Given the description of an element on the screen output the (x, y) to click on. 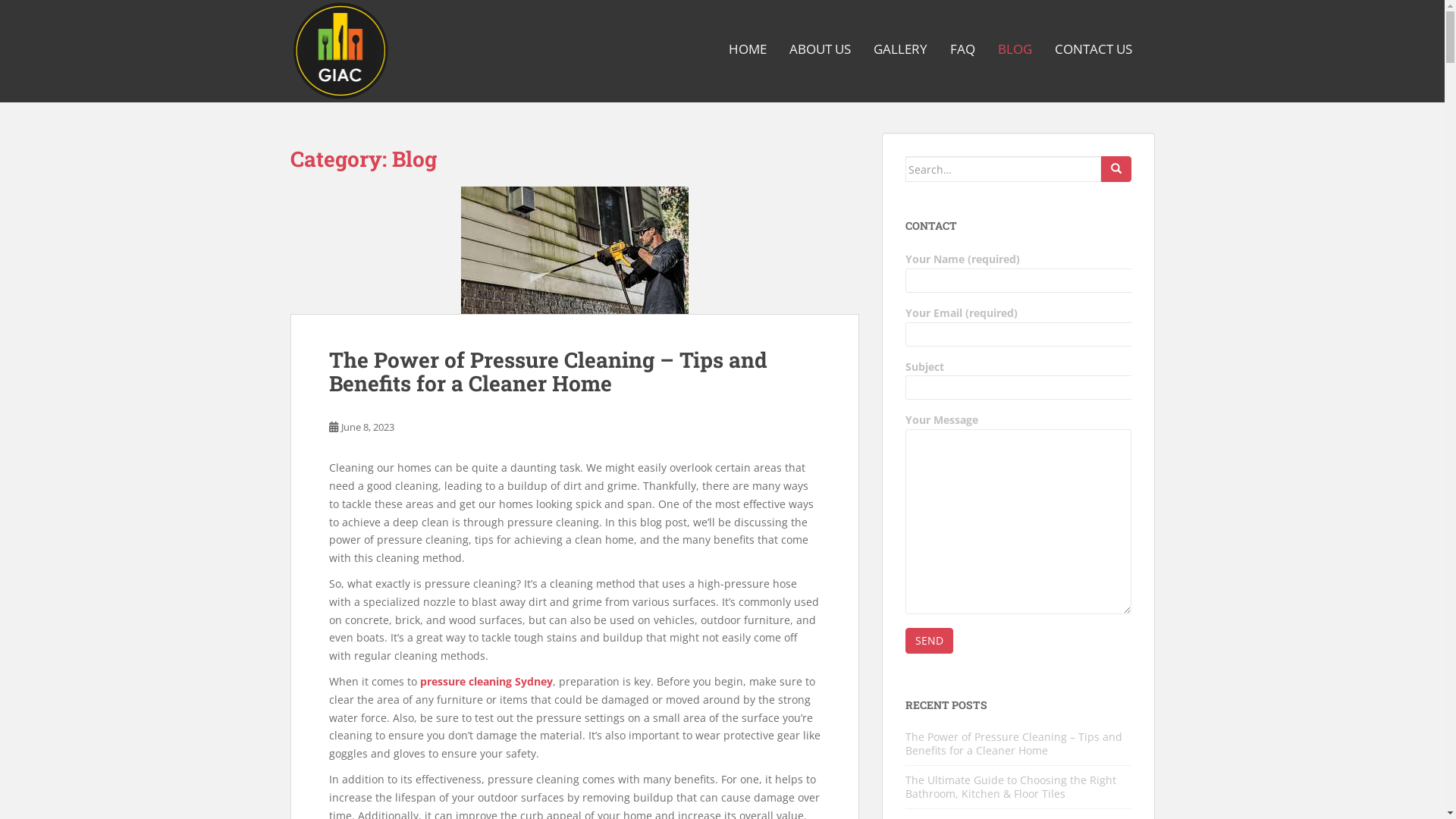
Search for: Element type: hover (1003, 169)
GALLERY Element type: text (900, 49)
June 8, 2023 Element type: text (367, 426)
pressure cleaning Sydney Element type: text (486, 681)
FAQ Element type: text (961, 49)
Send Element type: text (929, 640)
BLOG Element type: text (1014, 49)
HOME Element type: text (746, 49)
Search Element type: text (1116, 169)
ABOUT US Element type: text (819, 49)
CONTACT US Element type: text (1092, 49)
